Given the description of an element on the screen output the (x, y) to click on. 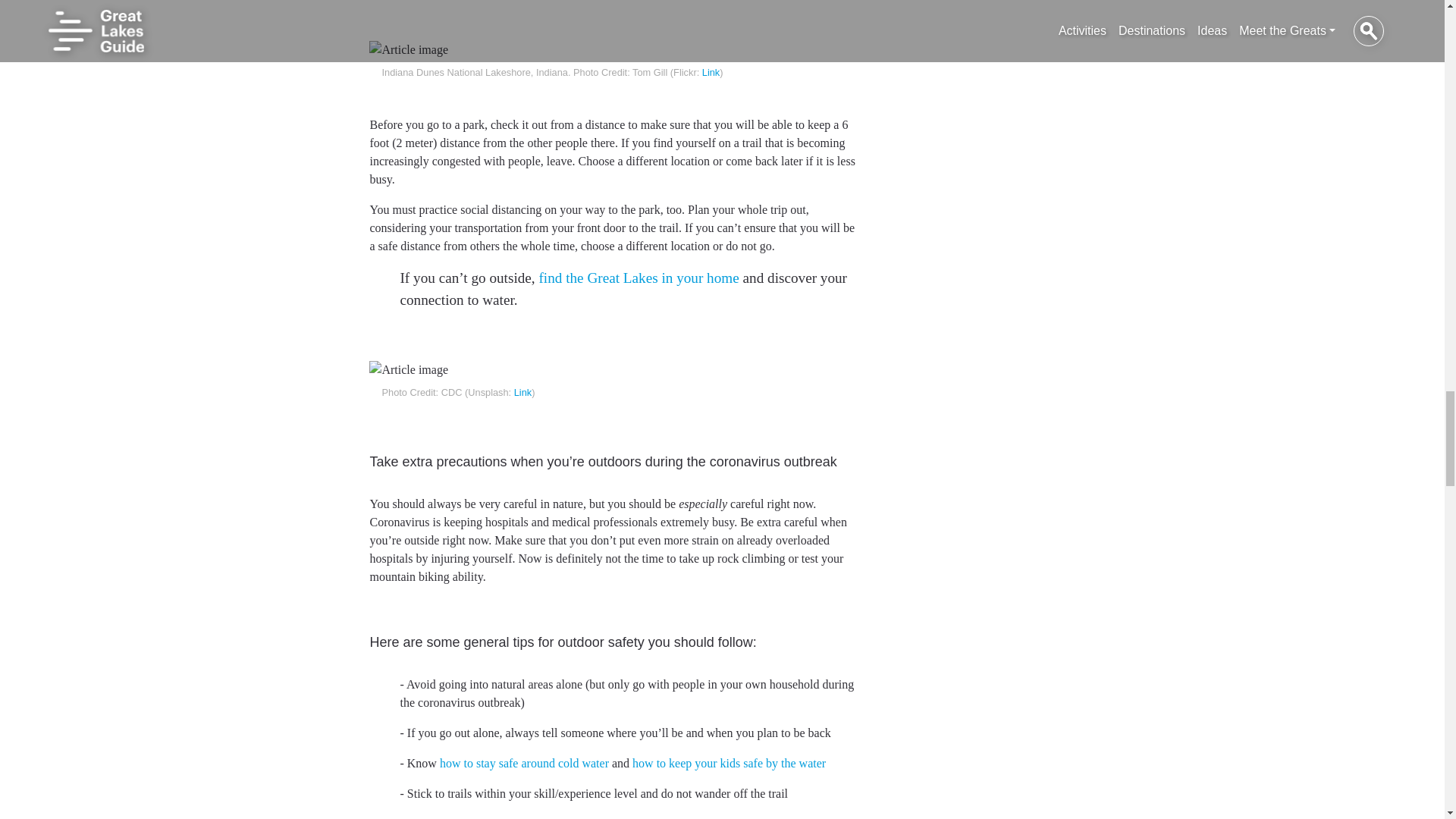
Link (710, 71)
Link (522, 392)
find the Great Lakes in your home (638, 277)
how to keep your kids safe by the water (728, 762)
how to stay safe around cold water (523, 762)
